Given the description of an element on the screen output the (x, y) to click on. 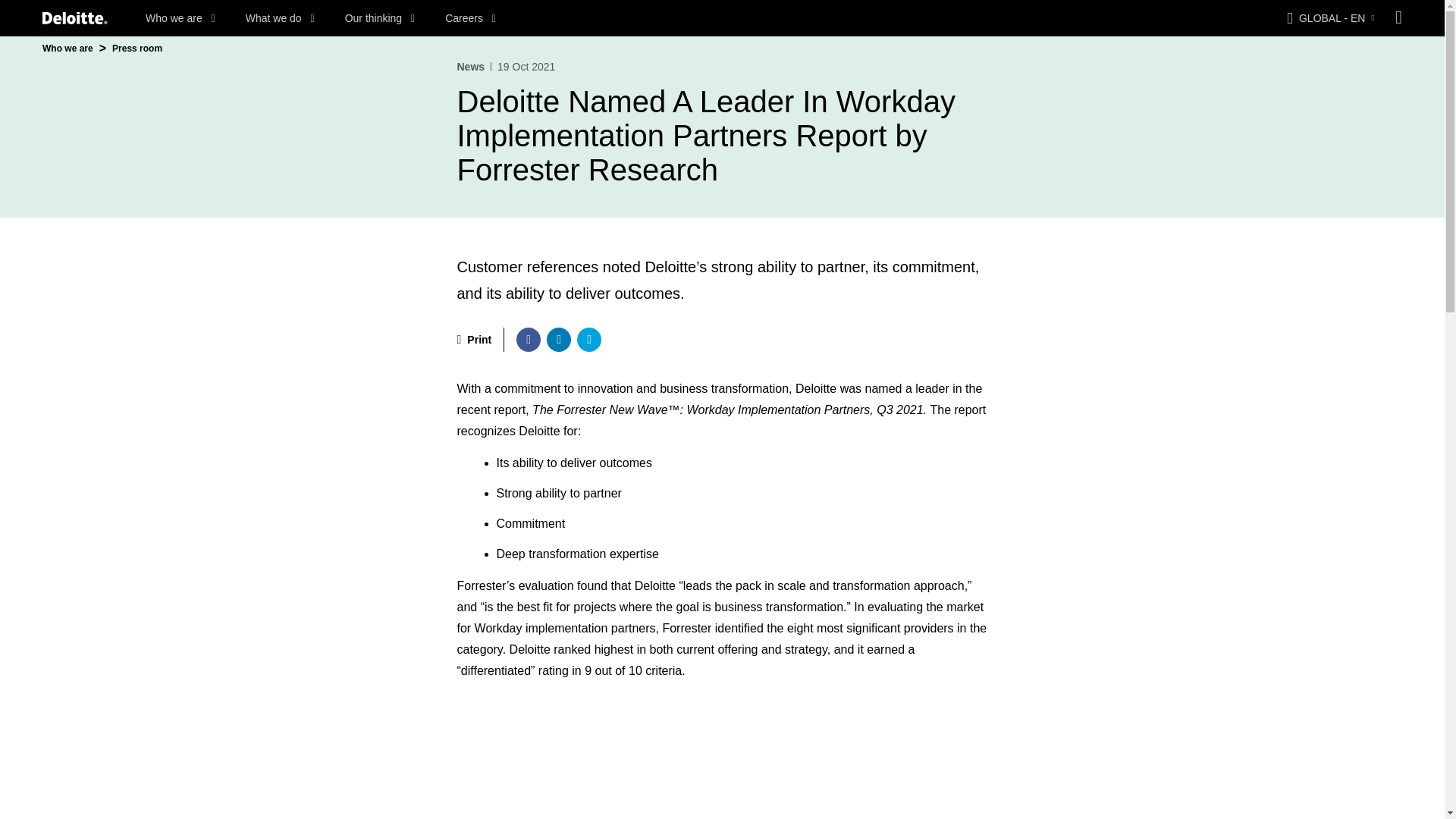
Careers (470, 18)
Print (474, 339)
share via facebook (528, 339)
Who we are (180, 18)
Deloitte (74, 18)
share via email (588, 339)
Our thinking (379, 18)
What we do (280, 18)
share via linkedin (558, 339)
